Given the description of an element on the screen output the (x, y) to click on. 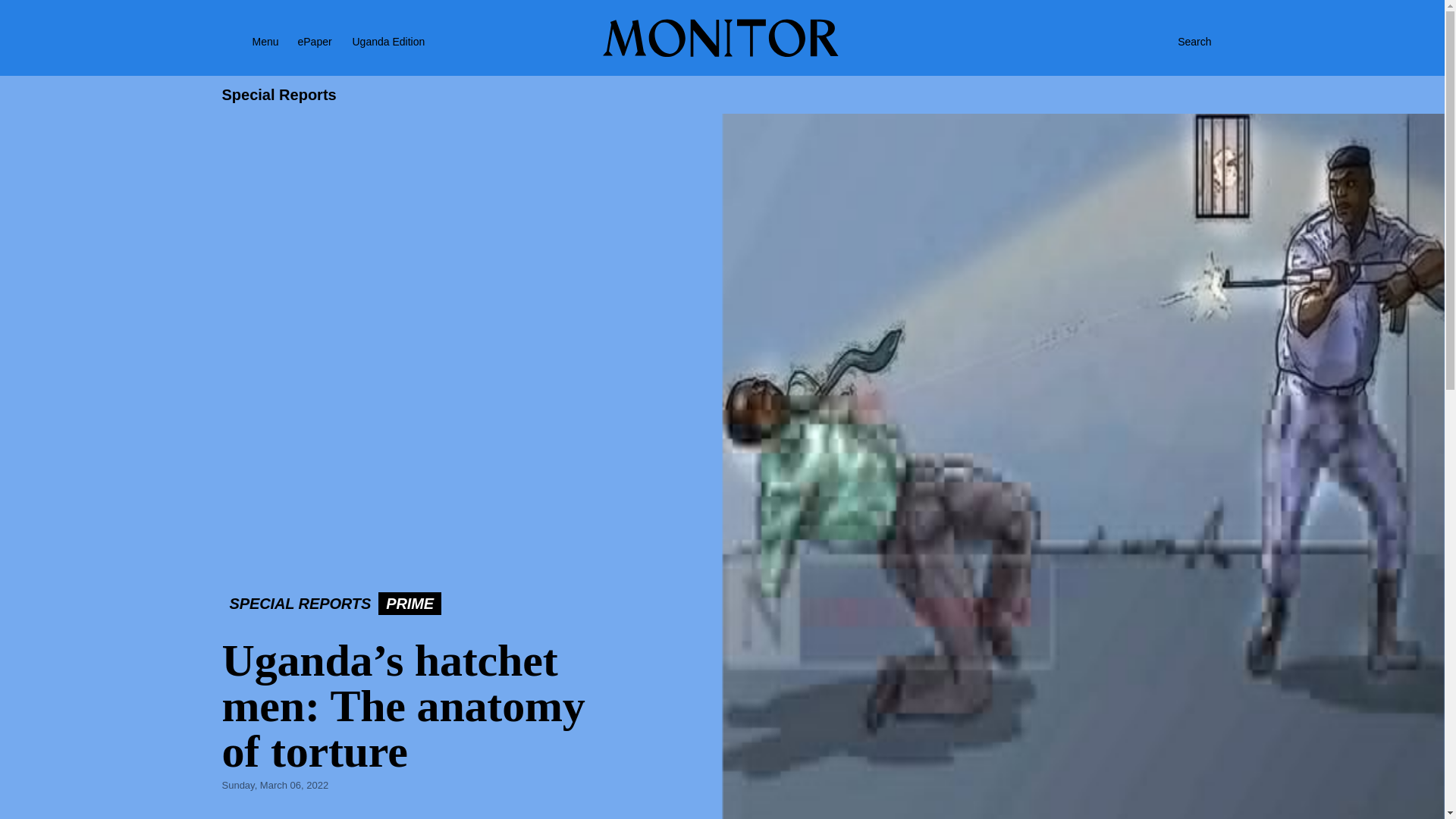
Uganda Edition (401, 41)
Search (1178, 41)
Menu (246, 41)
ePaper (314, 41)
Special Reports (278, 94)
